Given the description of an element on the screen output the (x, y) to click on. 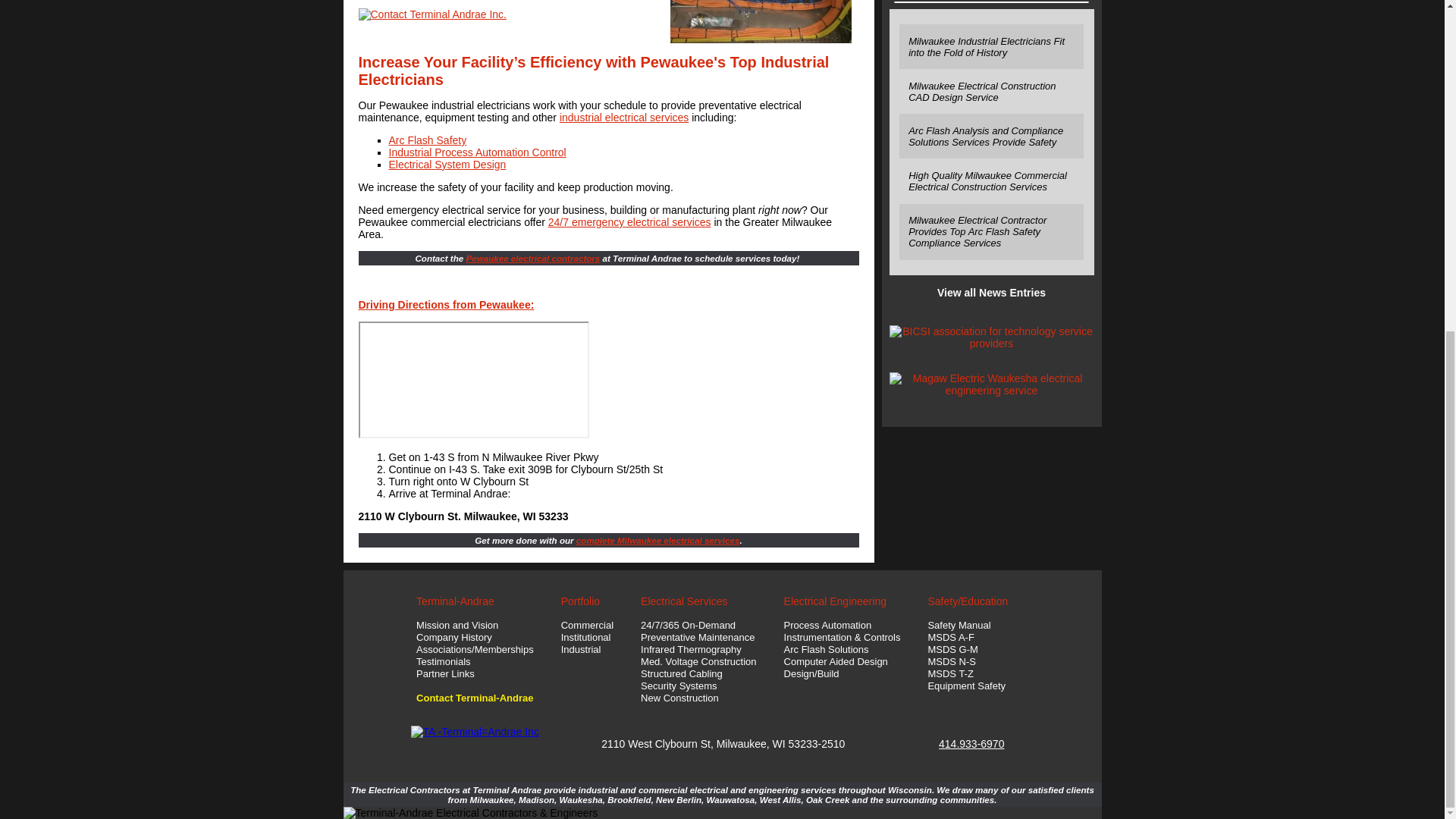
industrial electrical services (623, 117)
Electrical System Design (446, 164)
Driving Directions from Pewaukee: (446, 304)
Industrial Process Automation Control (477, 152)
Pewaukee electrical contractors (532, 257)
Arc Flash Safety (426, 140)
